Given the description of an element on the screen output the (x, y) to click on. 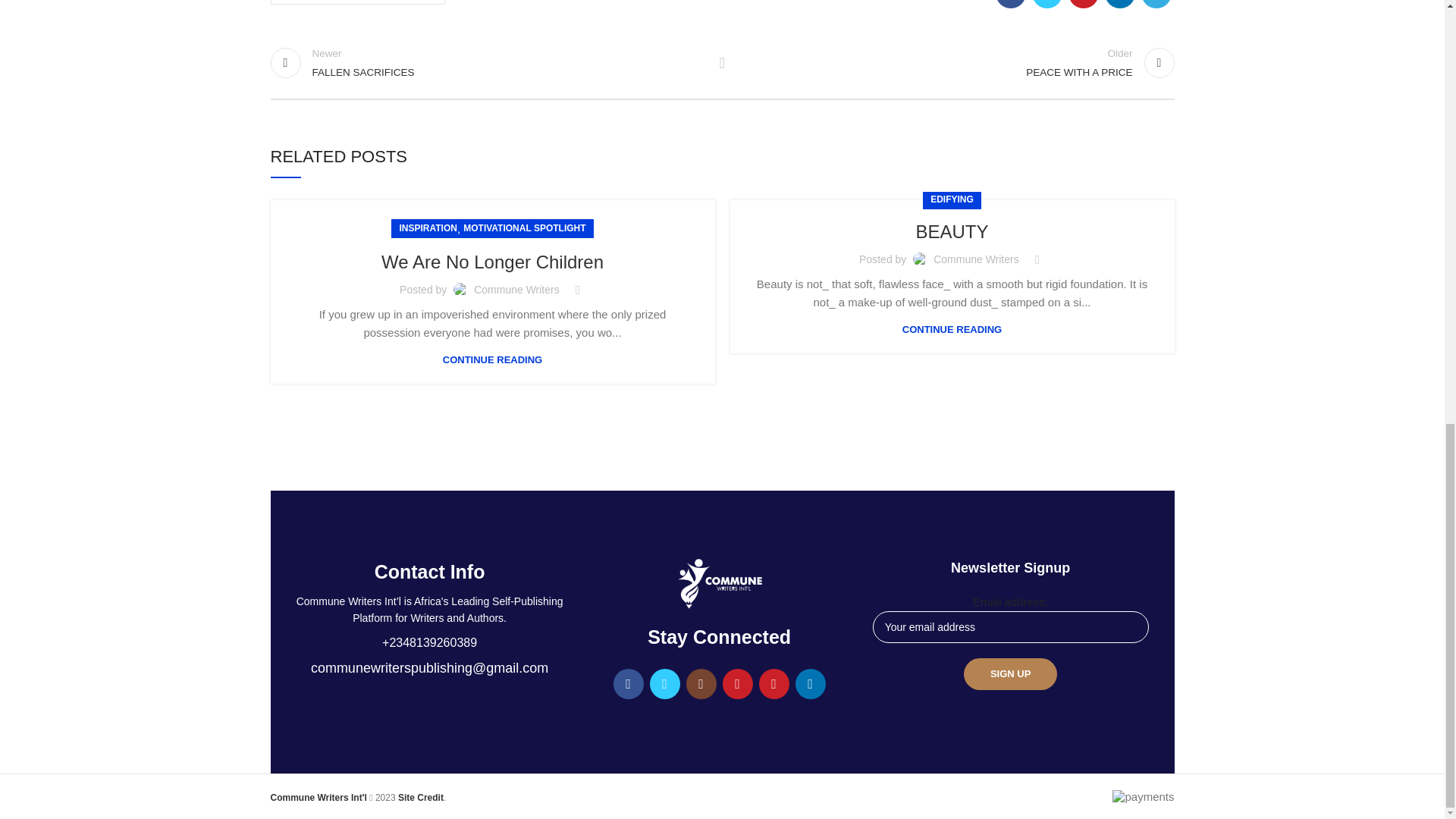
INSPIRATION (955, 62)
Sign up (427, 228)
MOTIVATIONAL SPOTLIGHT (488, 62)
MOTIVATIONAL SPOTLIGHT (1010, 674)
Back to list (356, 2)
We Are No Longer Children (524, 228)
